Given the description of an element on the screen output the (x, y) to click on. 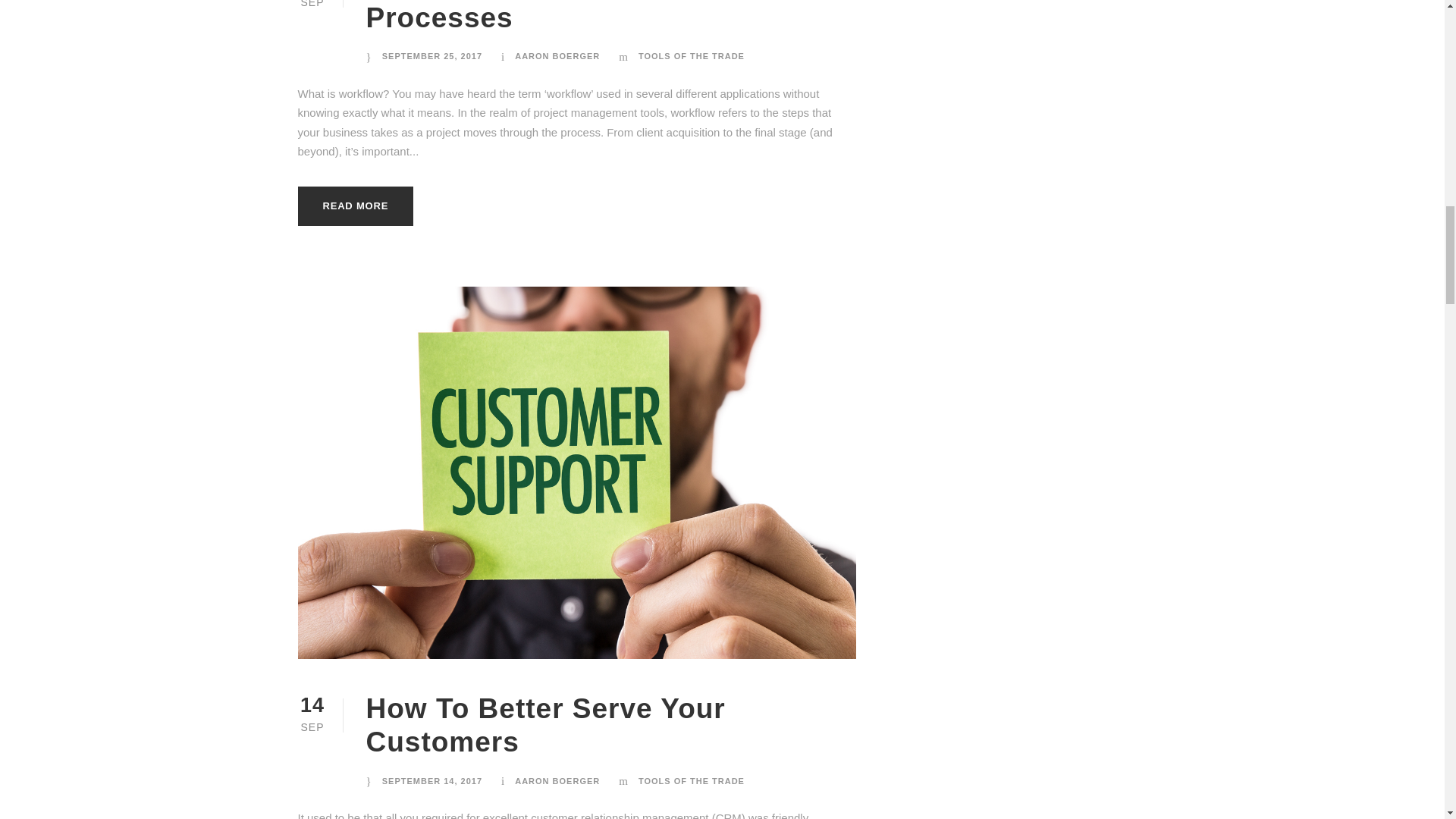
Posts by Aaron Boerger (557, 55)
Posts by Aaron Boerger (557, 780)
